Given the description of an element on the screen output the (x, y) to click on. 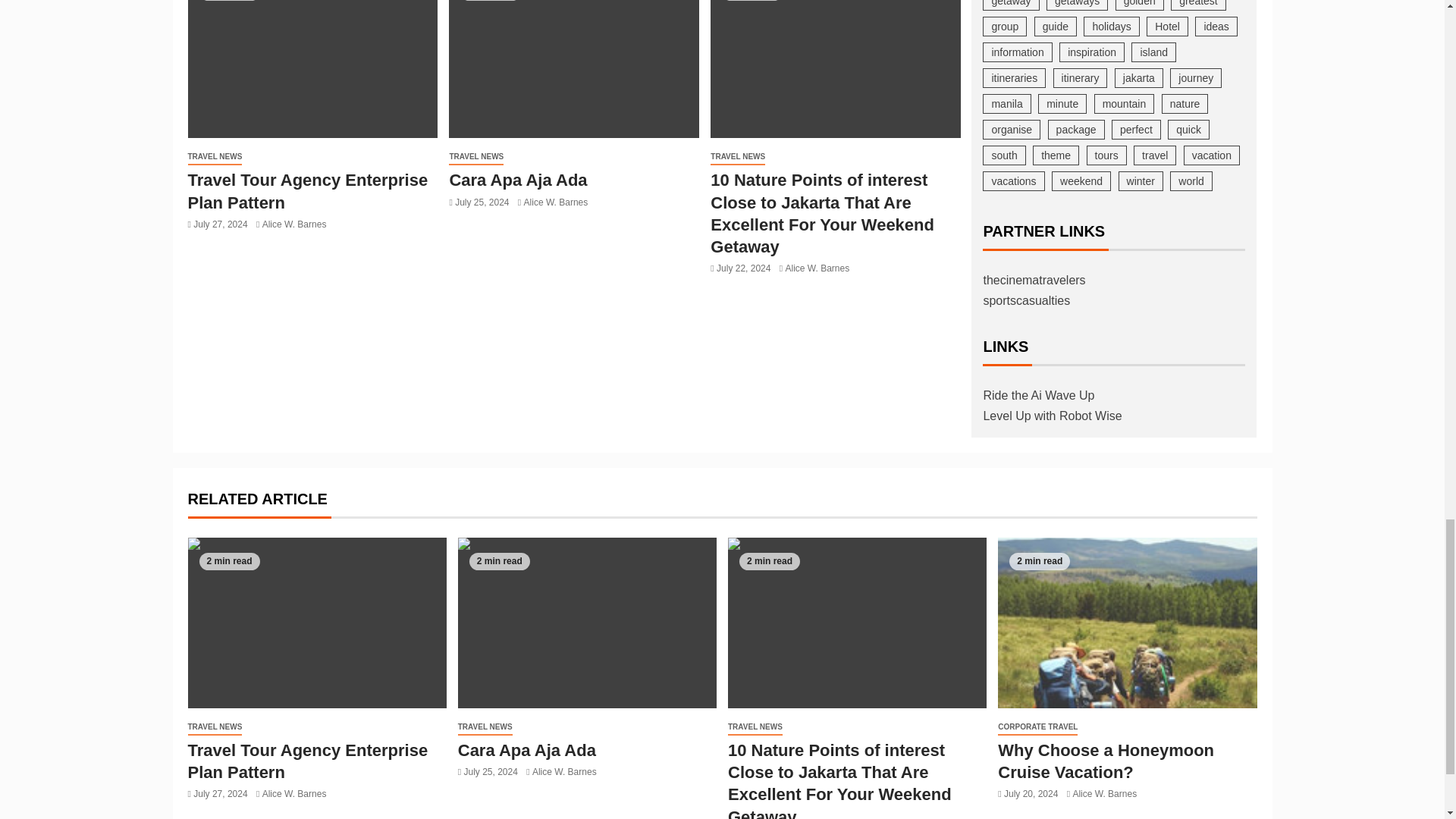
Travel Tour Agency Enterprise Plan Pattern (312, 69)
TRAVEL NEWS (215, 157)
Alice W. Barnes (294, 224)
Travel Tour Agency Enterprise Plan Pattern (307, 190)
Cara Apa Aja Ada (573, 69)
